Given the description of an element on the screen output the (x, y) to click on. 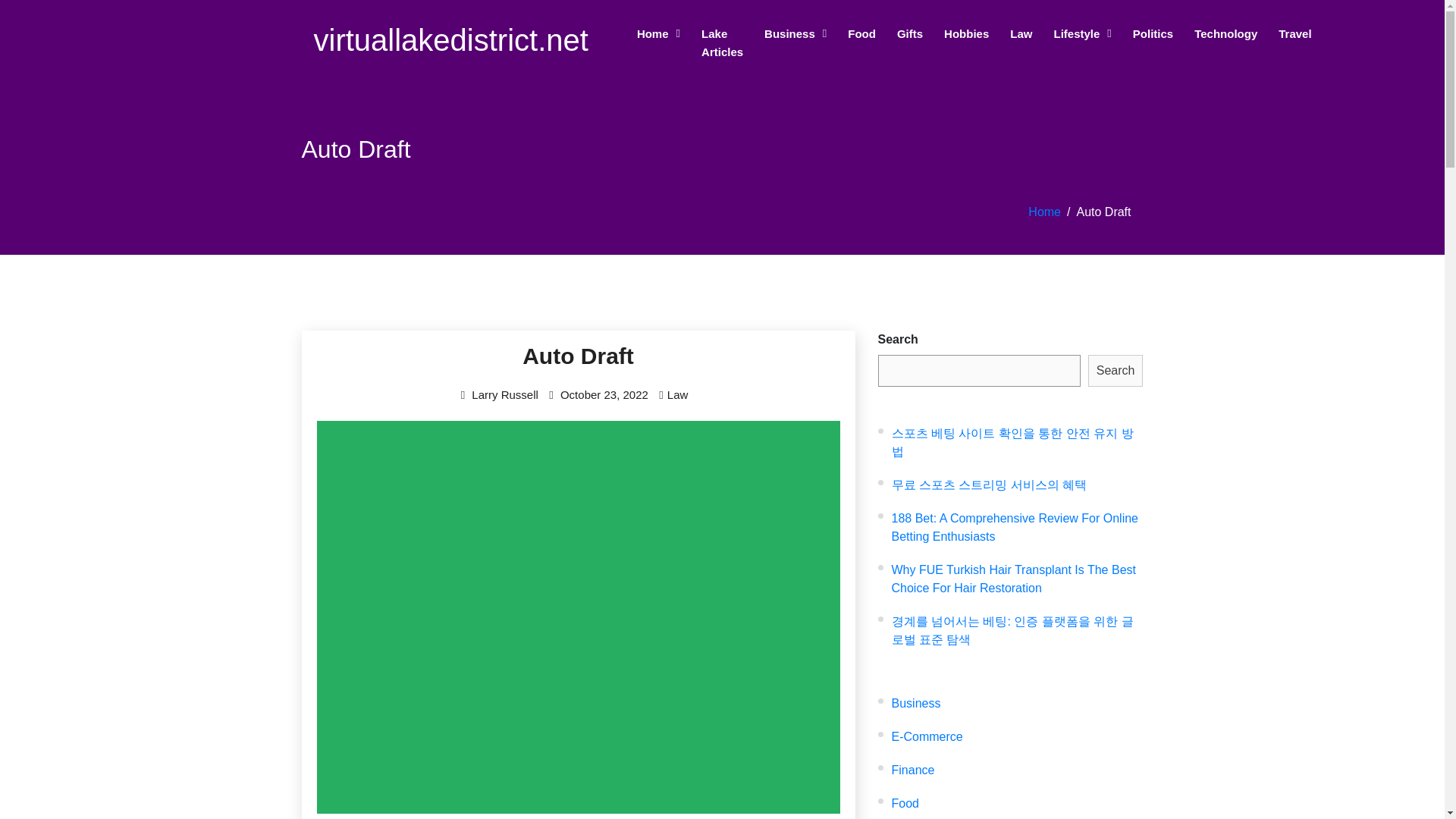
Business (795, 33)
virtuallakedistrict.net (451, 42)
Lifestyle (1081, 33)
Law (1021, 33)
Gifts (909, 33)
Food (861, 33)
Travel (1294, 33)
Home (658, 33)
Lake Articles (721, 42)
Technology (1225, 33)
